Given the description of an element on the screen output the (x, y) to click on. 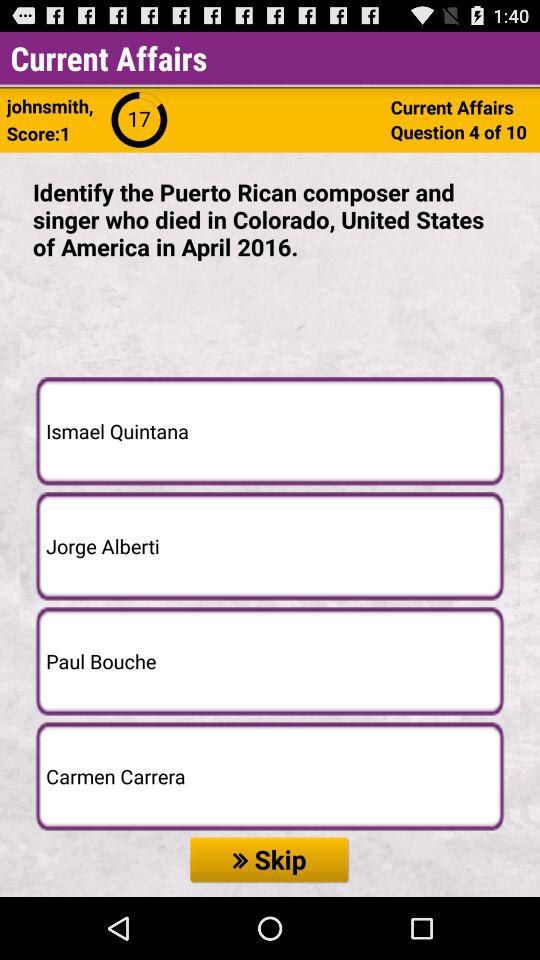
jump to the carmen carrera item (270, 776)
